Given the description of an element on the screen output the (x, y) to click on. 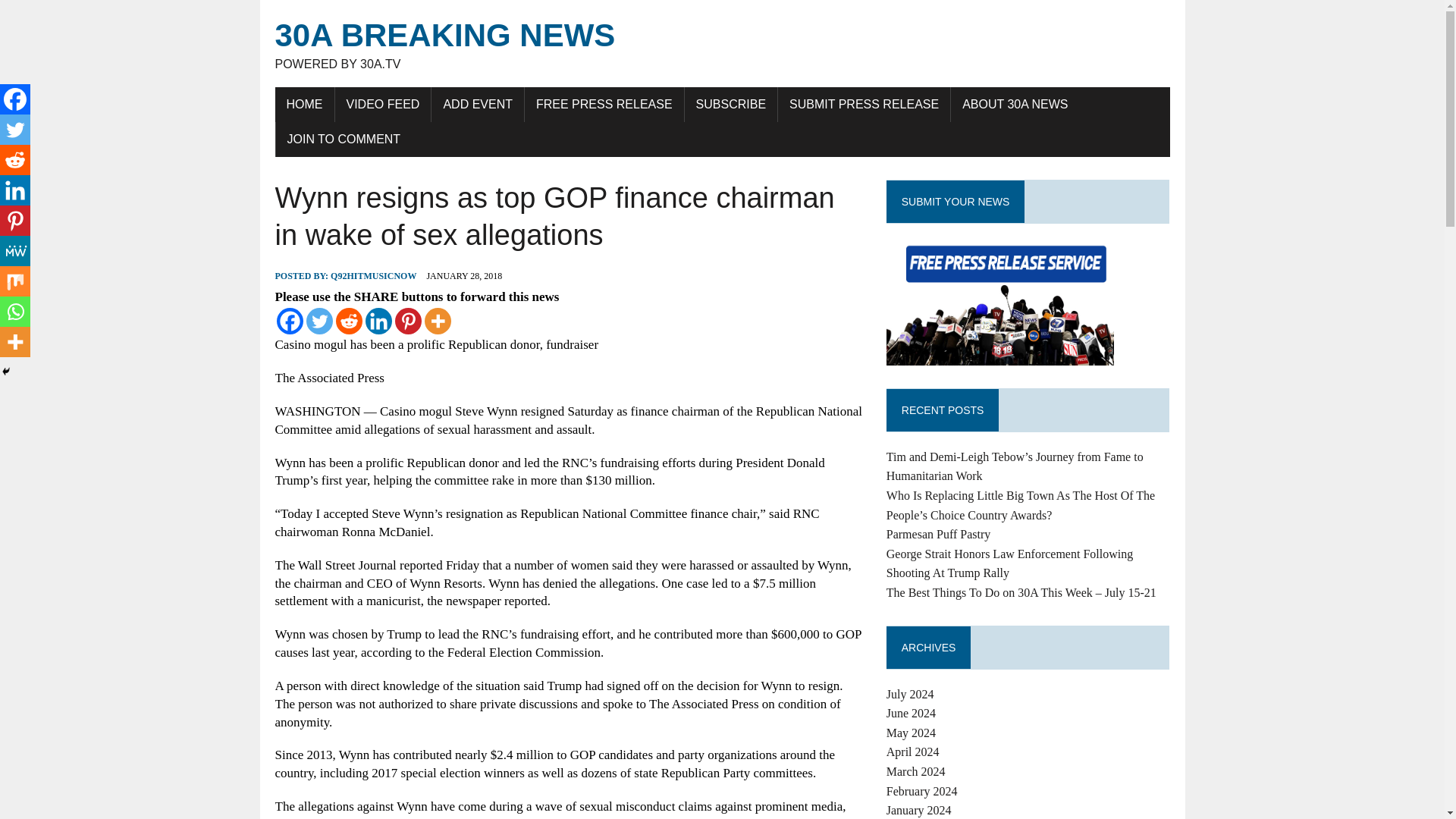
ADD EVENT (477, 104)
Facebook (722, 43)
ABOUT 30A NEWS (15, 99)
MeWe (1014, 104)
30A Breaking News (15, 250)
Twitter (722, 43)
SUBMIT PRESS RELEASE (319, 320)
Reddit (863, 104)
FREE PRESS RELEASE (15, 159)
VIDEO FEED (604, 104)
HOME (382, 104)
Facebook (304, 104)
SUBSCRIBE (289, 320)
More (730, 104)
